Given the description of an element on the screen output the (x, y) to click on. 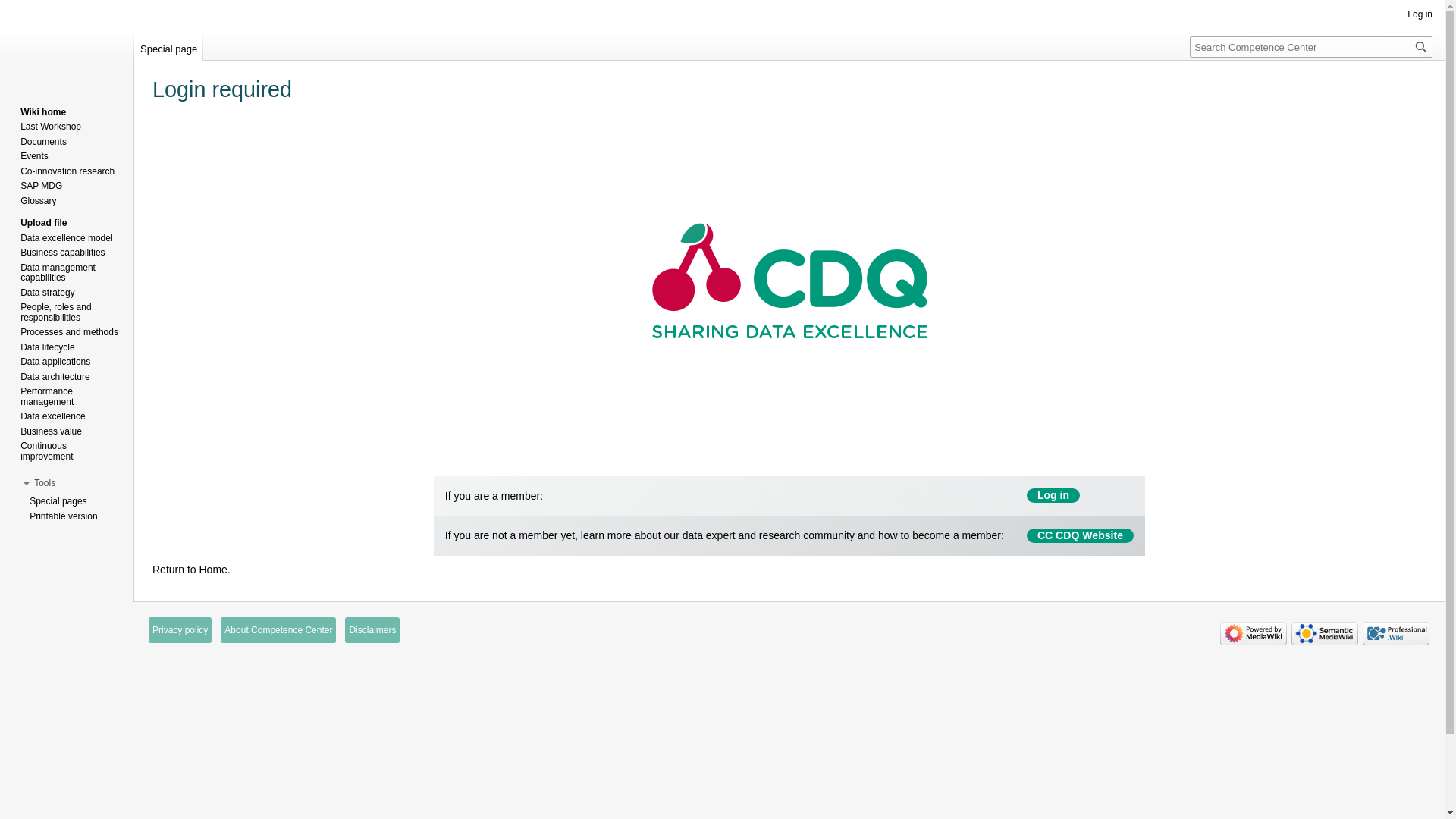
Co-innovation research Element type: text (67, 171)
Data architecture Element type: text (54, 376)
Wiki home Element type: text (42, 111)
Privacy policy Element type: text (179, 629)
Tools Element type: text (44, 482)
Performance management Element type: text (46, 396)
Data management capabilities Element type: text (57, 272)
Processes and methods Element type: text (69, 331)
Last Workshop Element type: text (50, 126)
Special page Element type: text (168, 45)
Data applications Element type: text (55, 361)
Home Element type: text (212, 569)
Special pages Element type: text (57, 500)
Data lifecycle Element type: text (47, 347)
CC CDQ Website Element type: text (1079, 535)
Continuous improvement Element type: text (46, 450)
Log in Element type: text (1053, 495)
Disclaimers Element type: text (371, 629)
Business capabilities Element type: text (62, 252)
Documents Element type: text (43, 141)
Data excellence model Element type: text (66, 237)
Printable version Element type: text (63, 516)
Events Element type: text (34, 155)
About Competence Center Element type: text (278, 629)
People, roles and responsibilities Element type: text (55, 312)
Data strategy Element type: text (47, 292)
Data excellence Element type: text (52, 416)
Upload file Element type: text (43, 222)
Business value Element type: text (50, 431)
SAP MDG Element type: text (41, 185)
Log in Element type: text (1419, 14)
Visit the main page Element type: hover (66, 60)
Jump to navigation Element type: text (151, 127)
Managed MediaWiki hosting Element type: hover (1395, 633)
Search Element type: text (1420, 46)
Search Competence Center [alt-shift-f] Element type: hover (1310, 46)
Search the pages for this text Element type: hover (1420, 46)
Glossary Element type: text (38, 200)
